Given the description of an element on the screen output the (x, y) to click on. 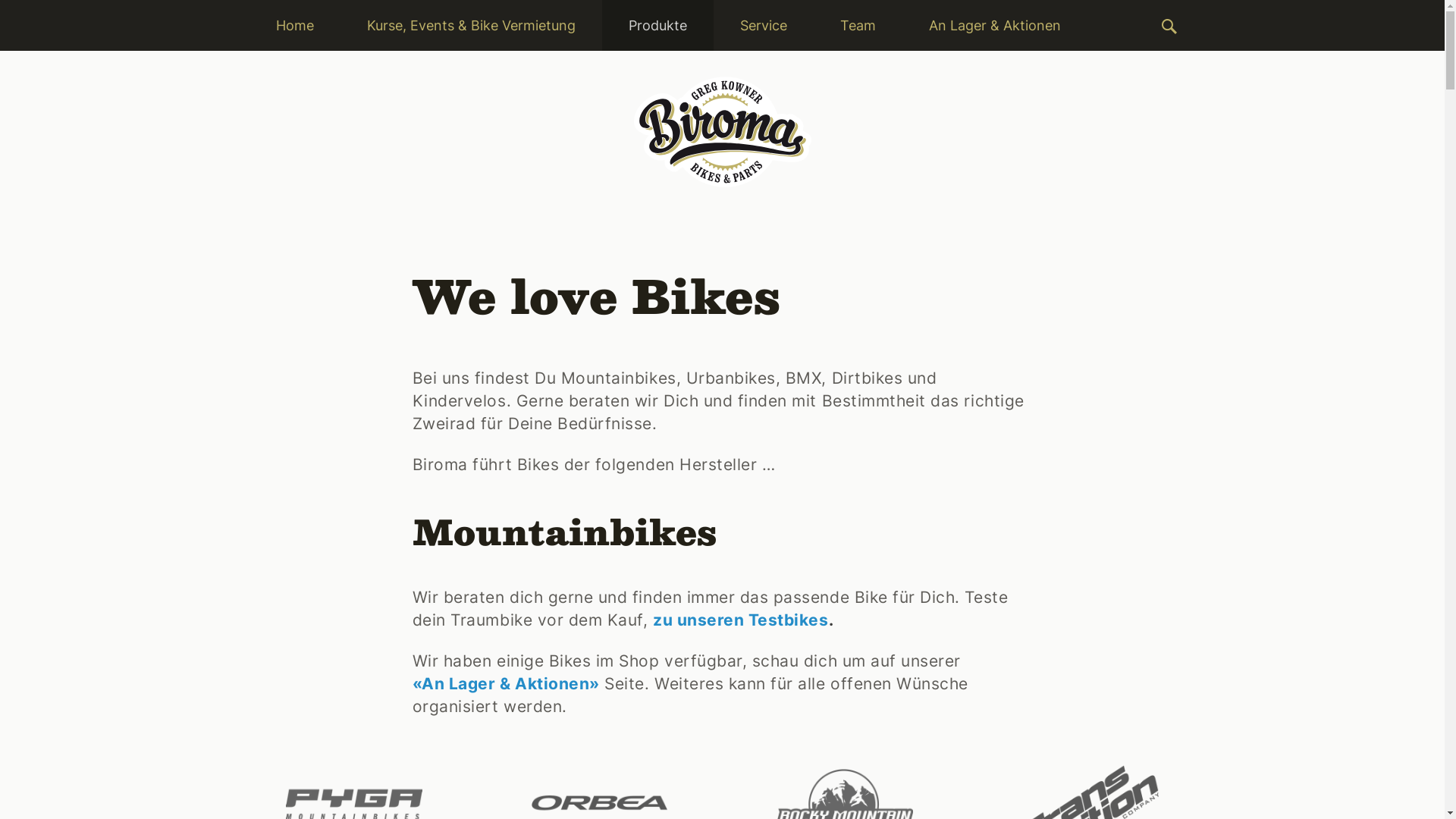
Team Element type: text (856, 25)
Kurse, Events & Bike Vermietung Element type: text (470, 25)
Produkte Element type: text (657, 25)
An Lager & Aktionen Element type: text (994, 25)
Home Element type: text (293, 25)
zu unseren Testbikes Element type: text (740, 619)
Service Element type: text (762, 25)
Biroma Bikes & Parts Element type: hover (721, 131)
